Given the description of an element on the screen output the (x, y) to click on. 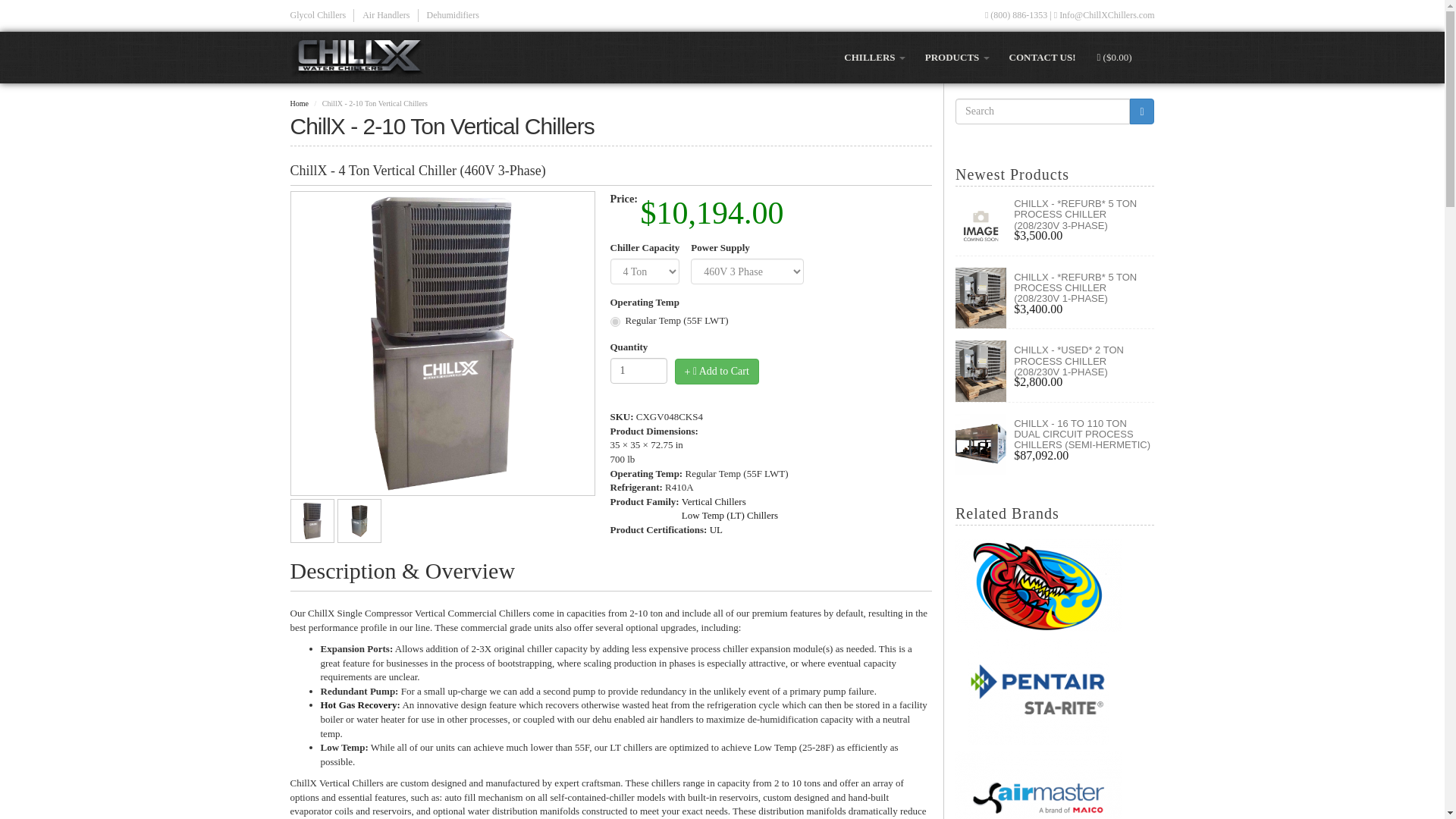
Home (362, 56)
Air Handlers (389, 15)
1 (638, 370)
Shop For Air Dehumidifiers! (456, 15)
0 (615, 321)
Dehumidifiers (456, 15)
Shop For Air Handlers! (389, 15)
Shop For Glycol Chillers! (321, 15)
Glycol Chillers (321, 15)
